Given the description of an element on the screen output the (x, y) to click on. 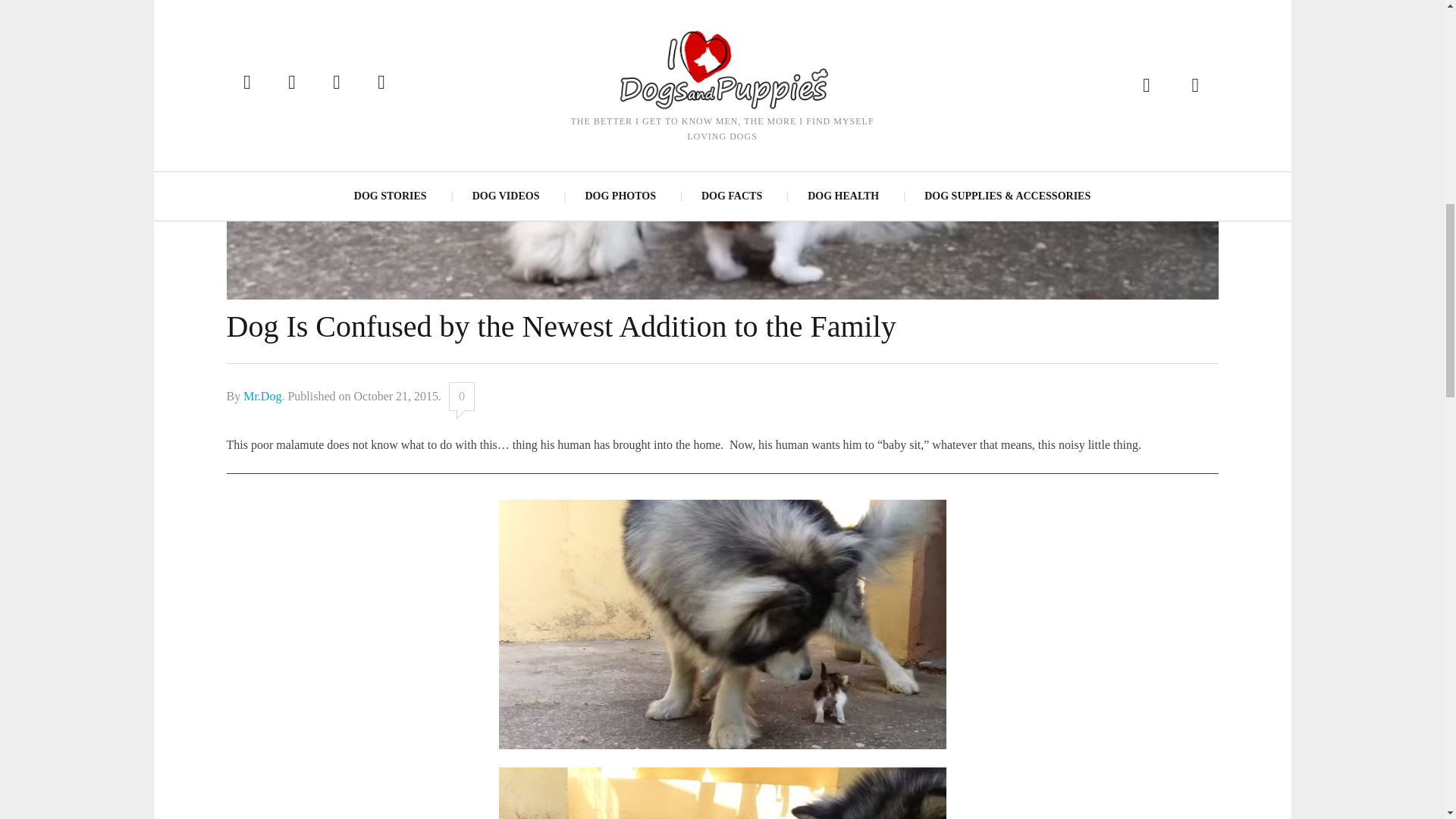
Posts by Mr.Dog (262, 395)
0 (461, 396)
Mr.Dog (262, 395)
